Given the description of an element on the screen output the (x, y) to click on. 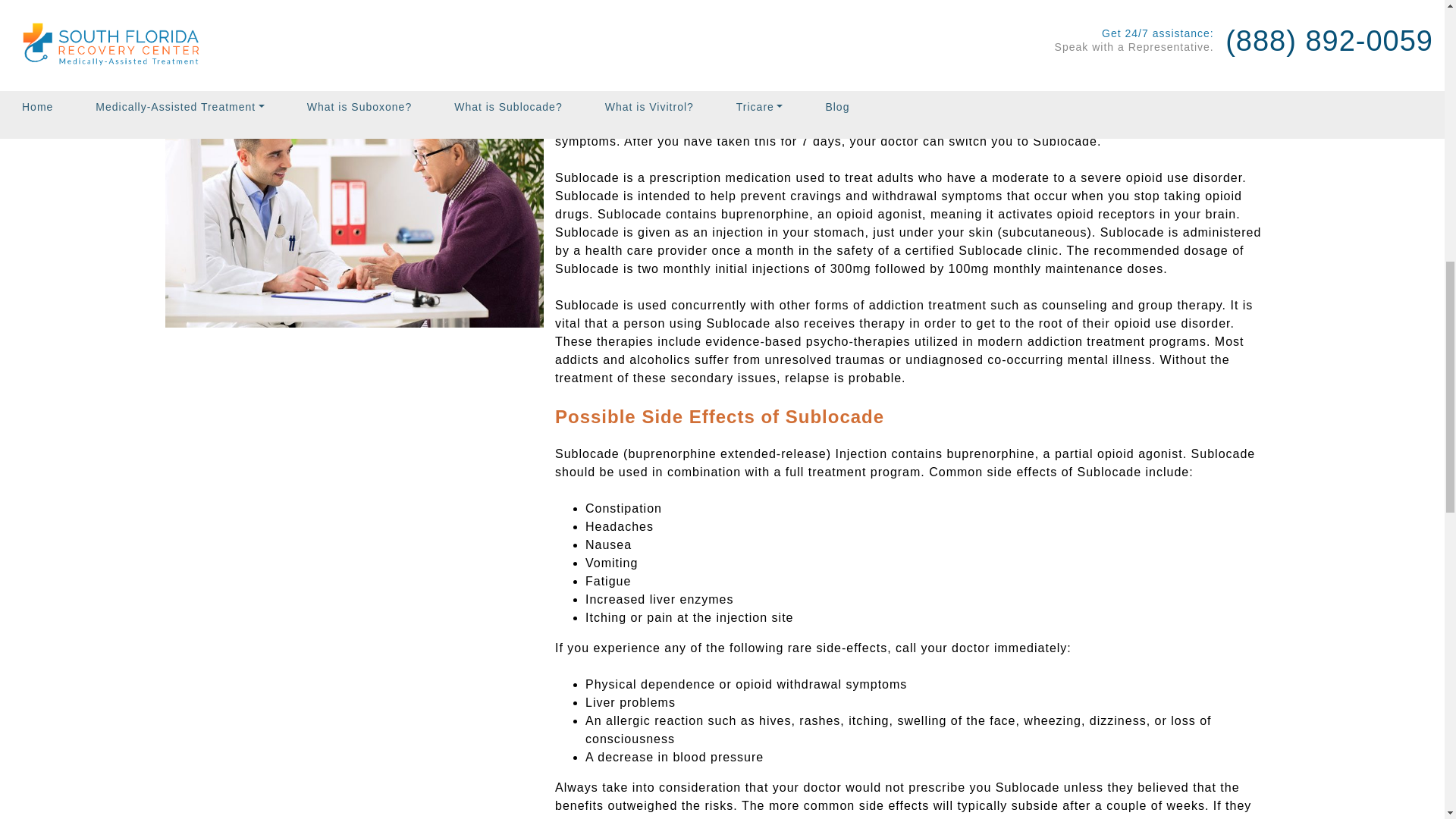
Vivitrol Doctors (212, 31)
Sublocade Doctors (223, 1)
